Given the description of an element on the screen output the (x, y) to click on. 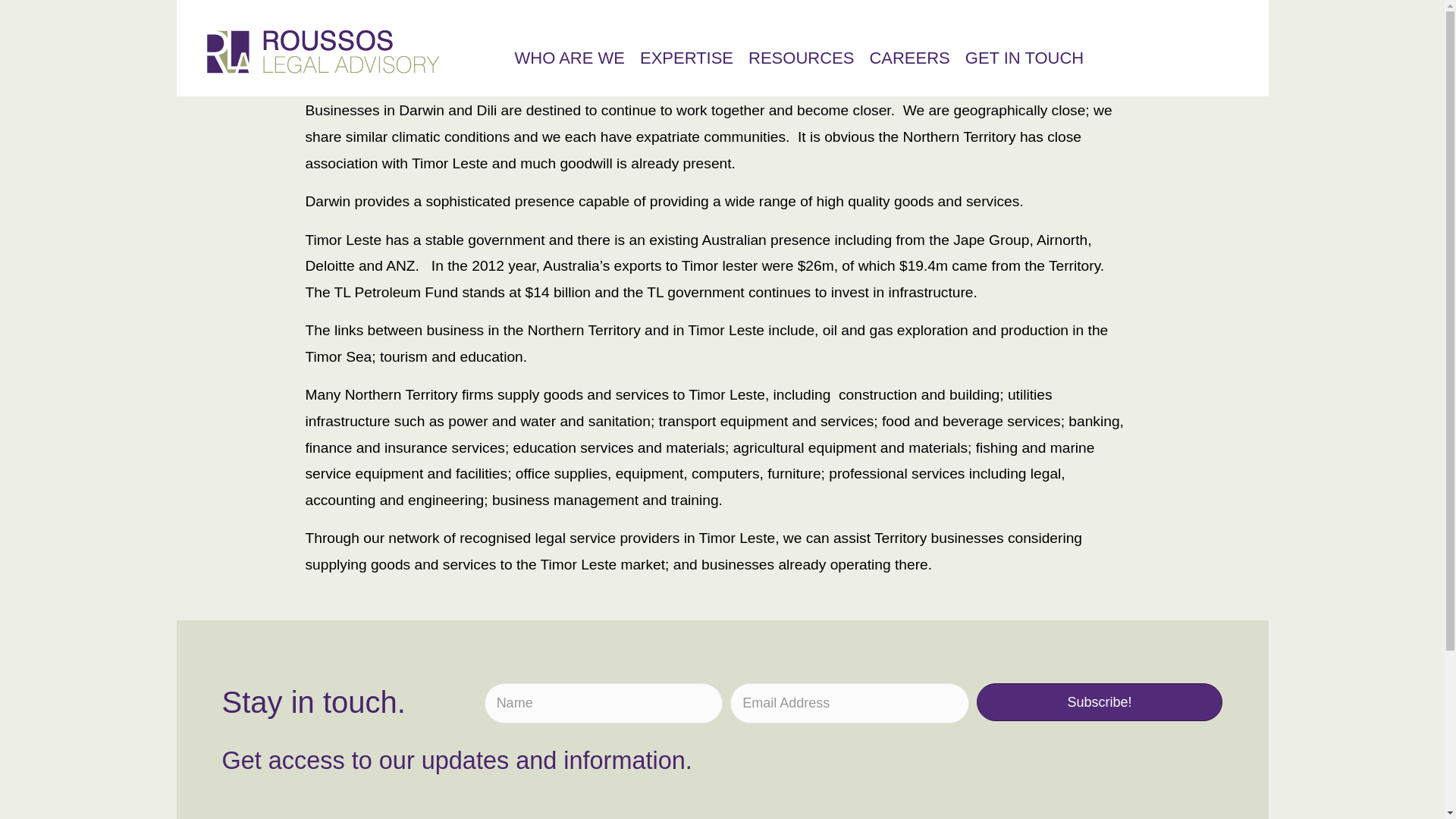
GET IN TOUCH (1024, 62)
CAREERS (909, 62)
Enquire (722, 530)
EXPERTISE (686, 62)
WHO ARE WE (568, 62)
RESOURCES (800, 62)
Subscribe! (1099, 702)
